Given the description of an element on the screen output the (x, y) to click on. 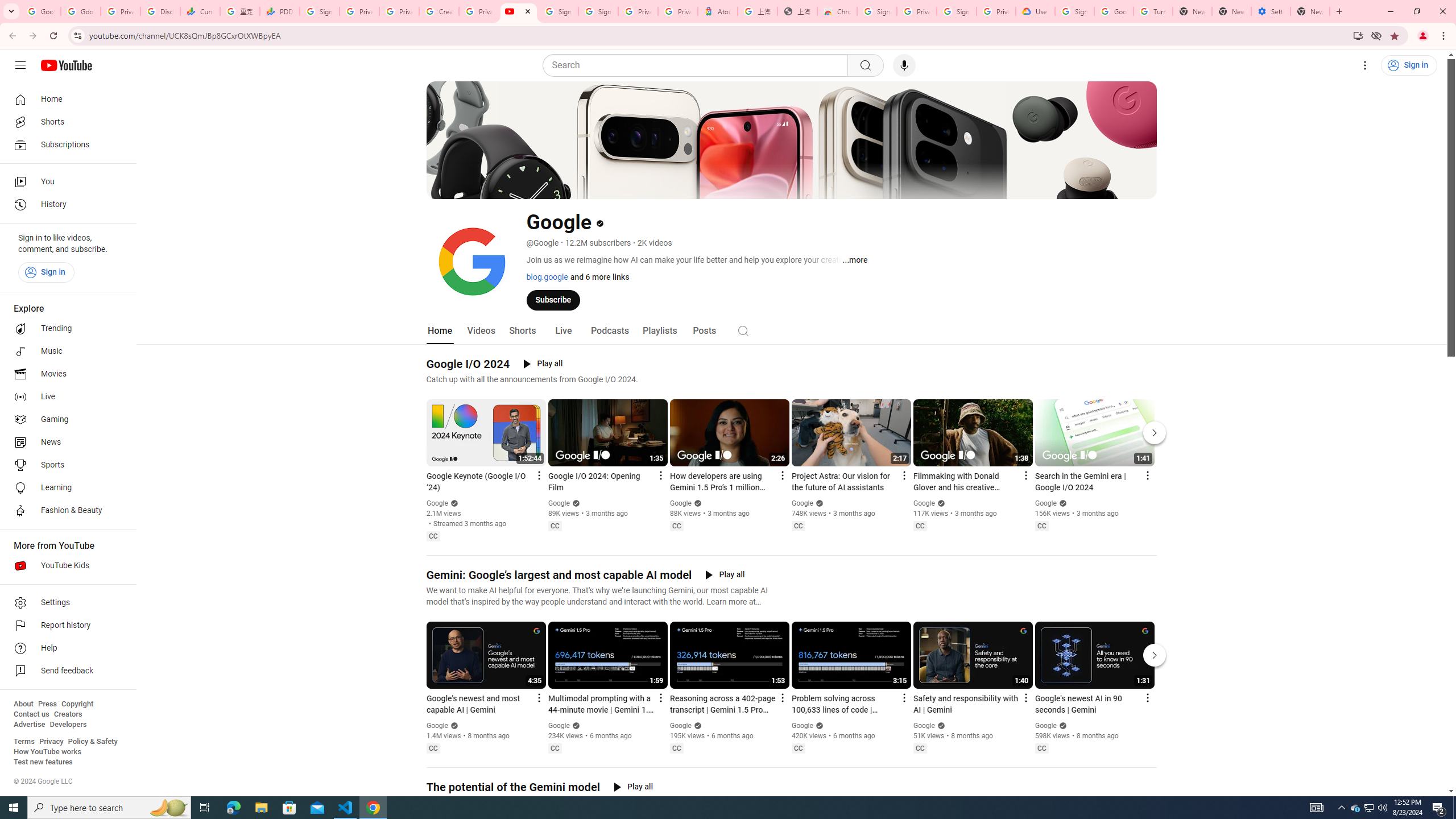
Contact us (31, 714)
YouTube Home (66, 65)
Google Account Help (1113, 11)
Press (46, 703)
Sign in - Google Accounts (557, 11)
